Given the description of an element on the screen output the (x, y) to click on. 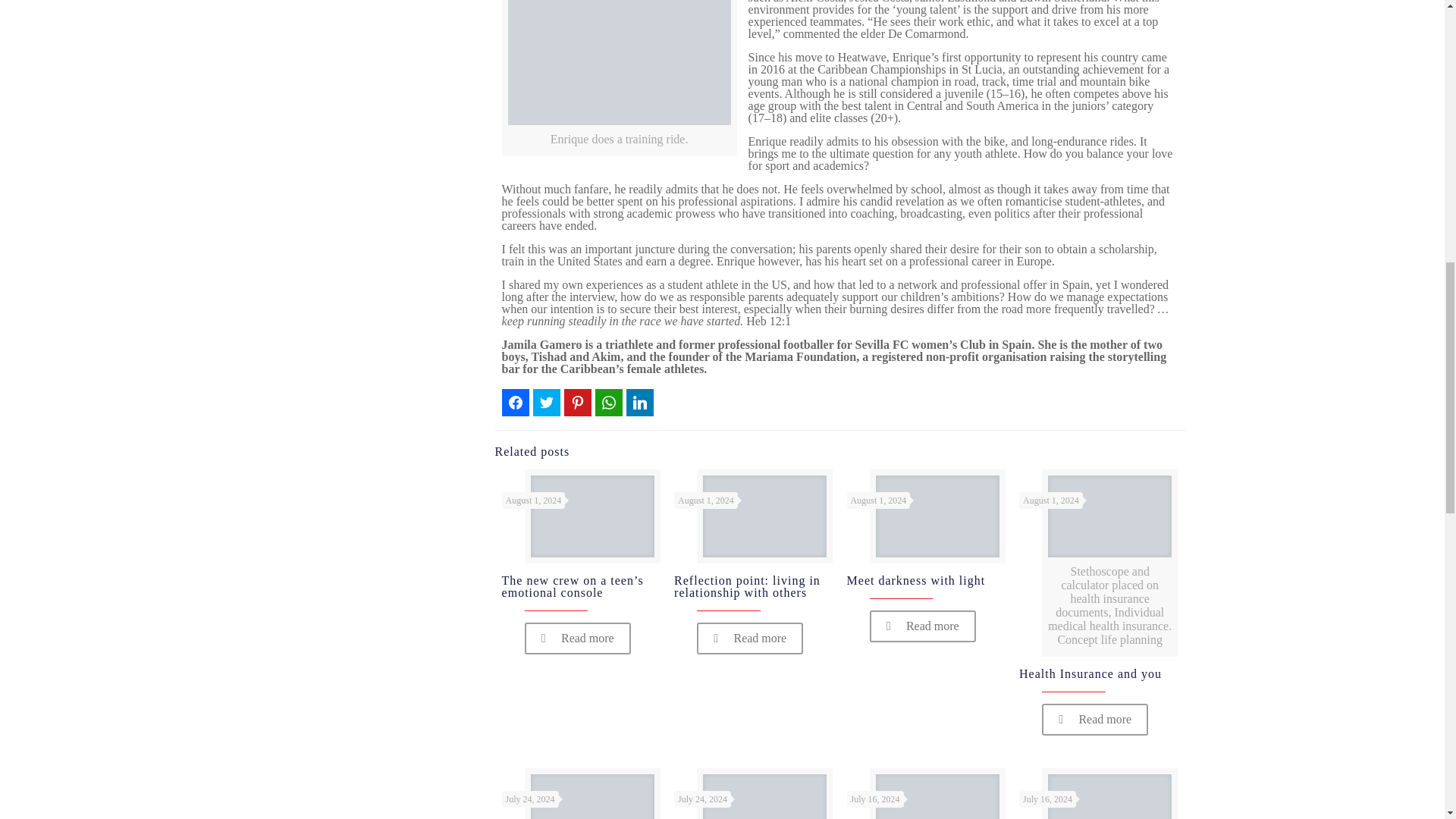
Share on Twitter (546, 402)
Share on WhatsApp (609, 402)
Share on Pinterest (577, 402)
Share on Facebook (515, 402)
Share on LinkedIn (639, 402)
